Given the description of an element on the screen output the (x, y) to click on. 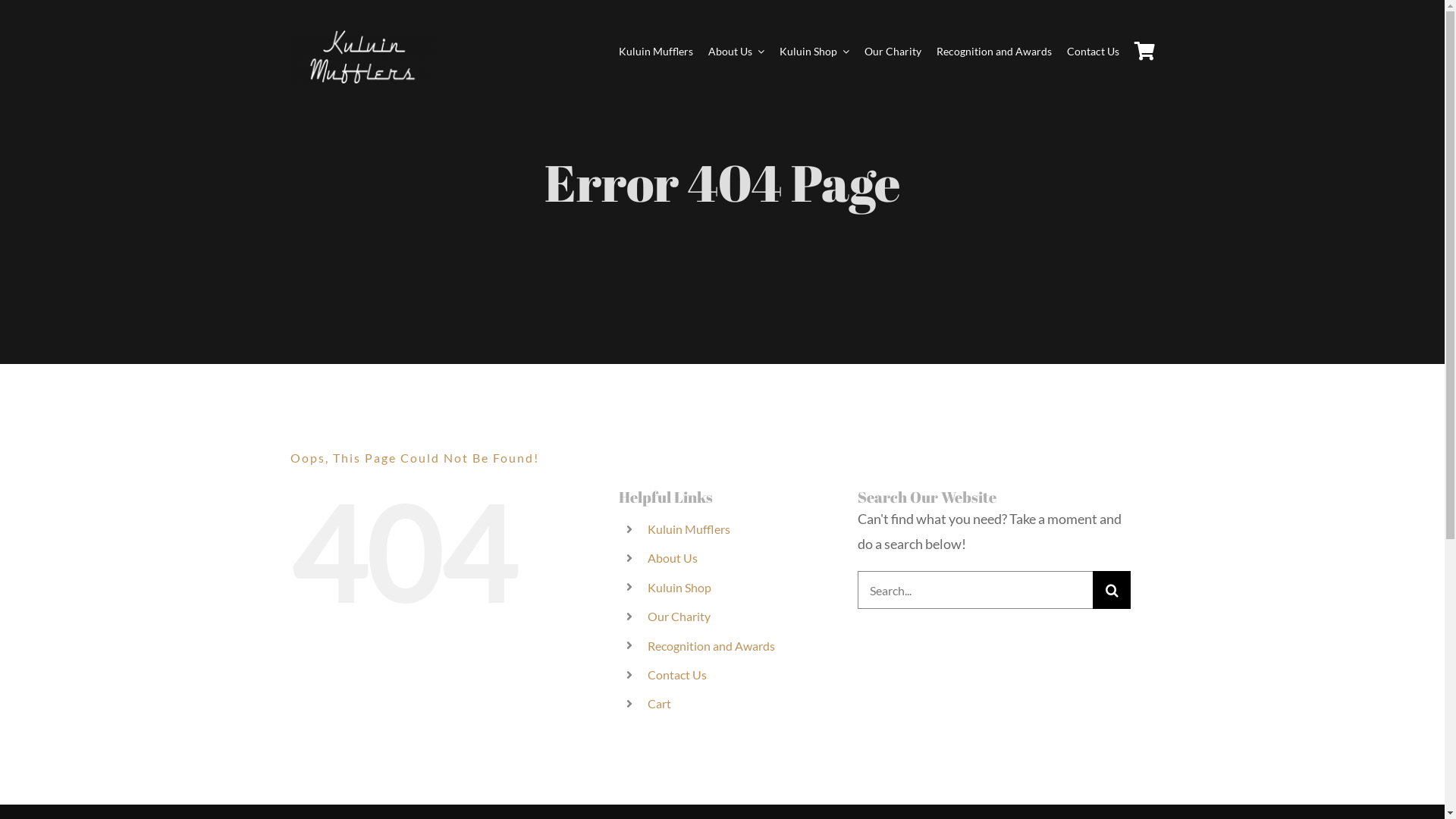
Contact Us Element type: text (1085, 51)
About Us Element type: text (728, 51)
Kuluin Shop Element type: text (806, 51)
Kuluin Shop Element type: text (679, 587)
Contact Us Element type: text (676, 674)
Recognition and Awards Element type: text (711, 645)
Our Charity Element type: text (678, 615)
Cart Element type: text (659, 703)
Our Charity Element type: text (885, 51)
Kuluin Mufflers Element type: text (688, 528)
Kuluin Mufflers Element type: text (648, 51)
About Us Element type: text (672, 557)
Recognition and Awards Element type: text (986, 51)
